Given the description of an element on the screen output the (x, y) to click on. 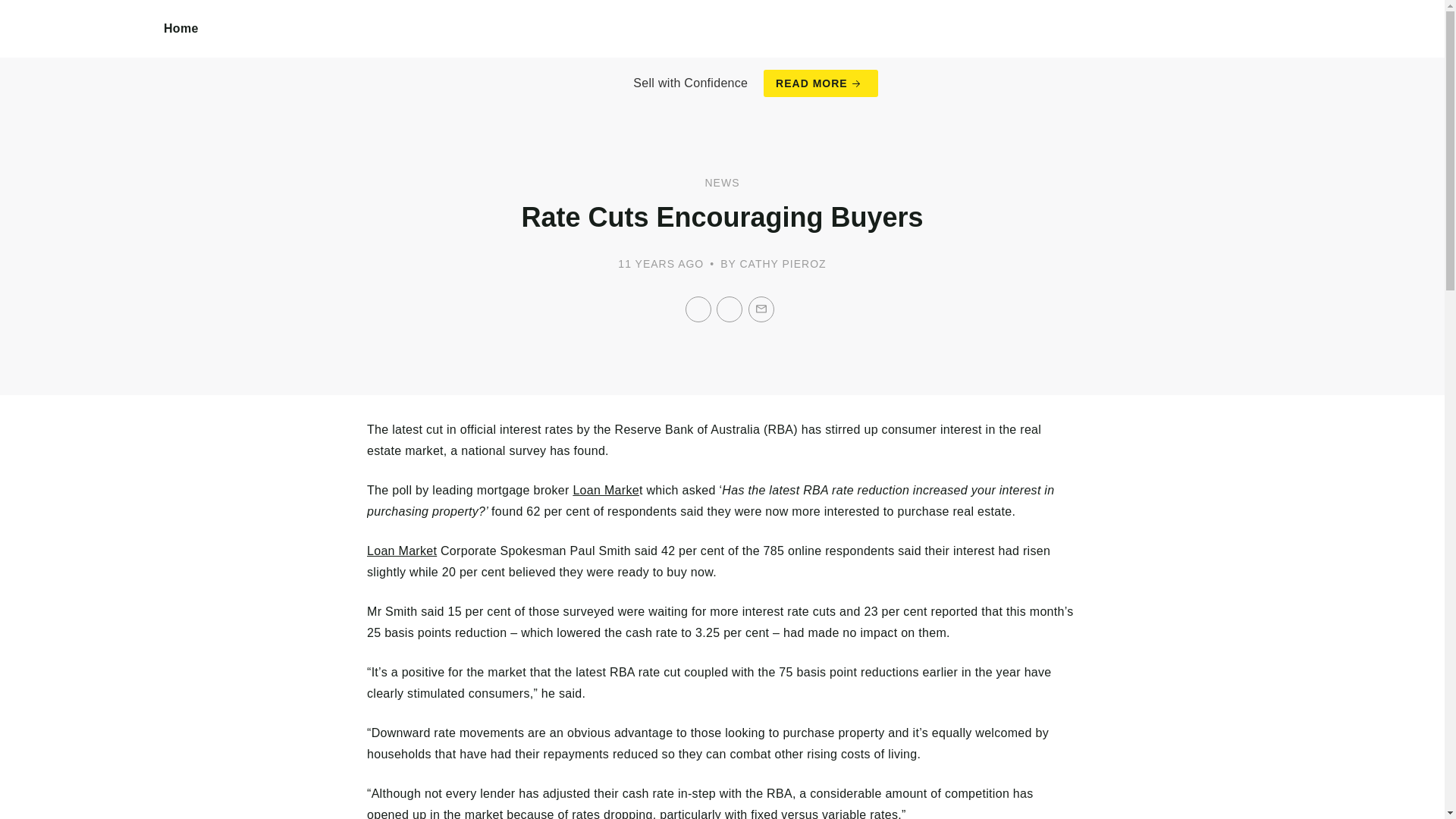
Loan Market (401, 550)
Loan Marke (605, 490)
READ MORE (819, 83)
Ray White Alexandra Hills (82, 45)
Twitter (729, 309)
Email (761, 309)
Home (180, 28)
Facebook (698, 309)
